Given the description of an element on the screen output the (x, y) to click on. 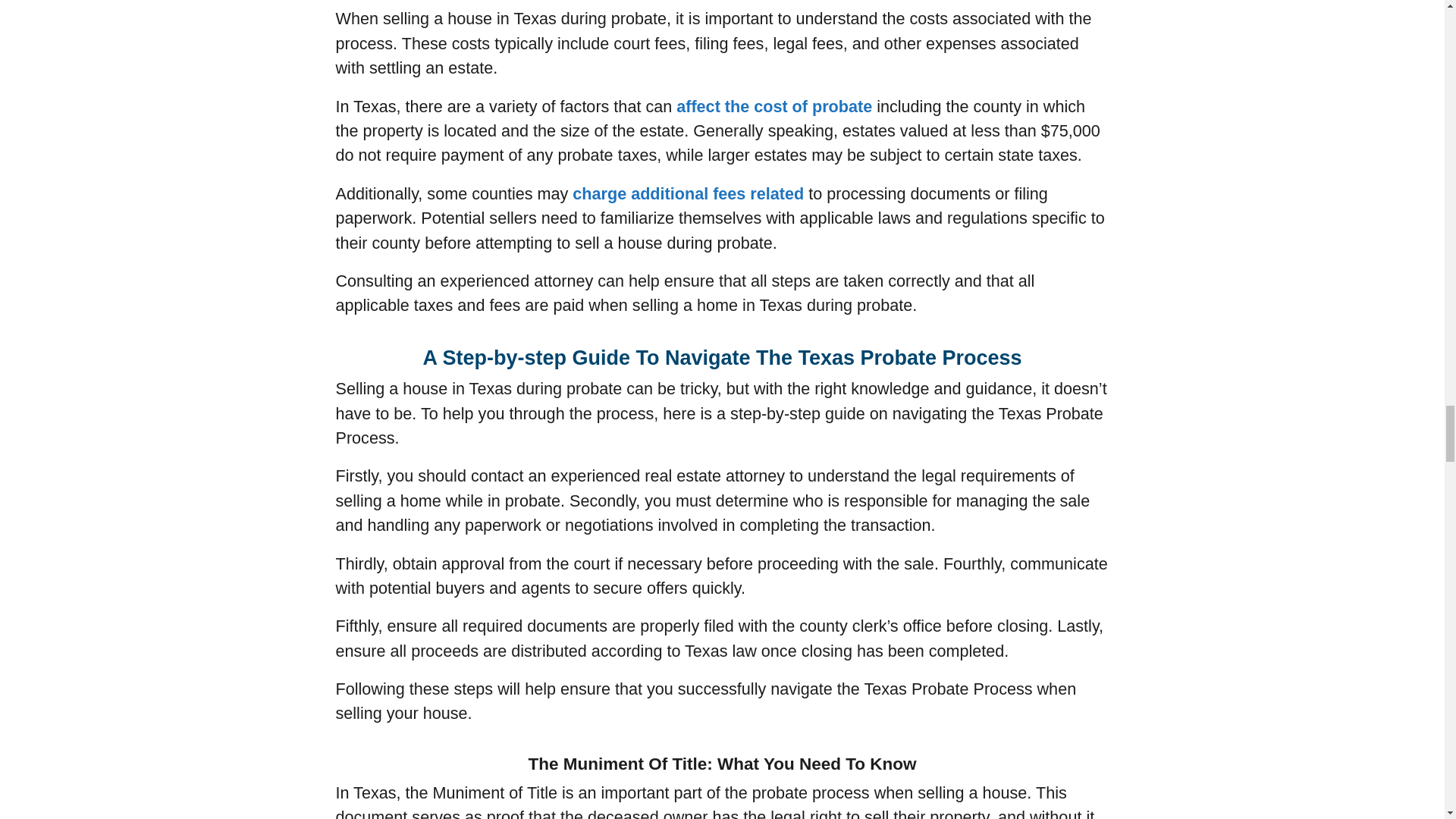
charge additional fees related (687, 193)
affect the cost of probate (774, 106)
